Given the description of an element on the screen output the (x, y) to click on. 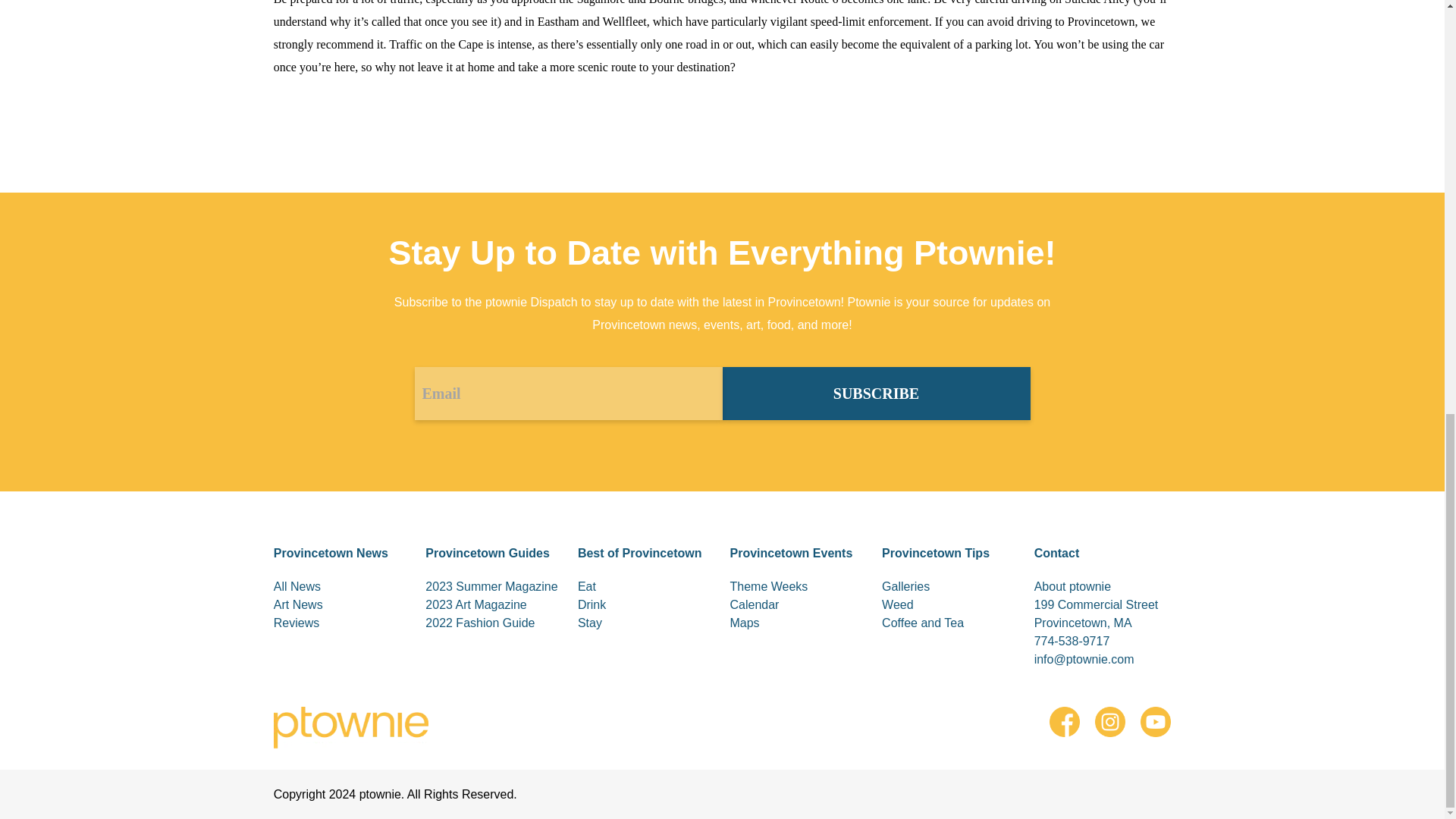
SUBSCRIBE (875, 393)
Art News (341, 605)
SUBSCRIBE (875, 393)
All News (341, 587)
